Given the description of an element on the screen output the (x, y) to click on. 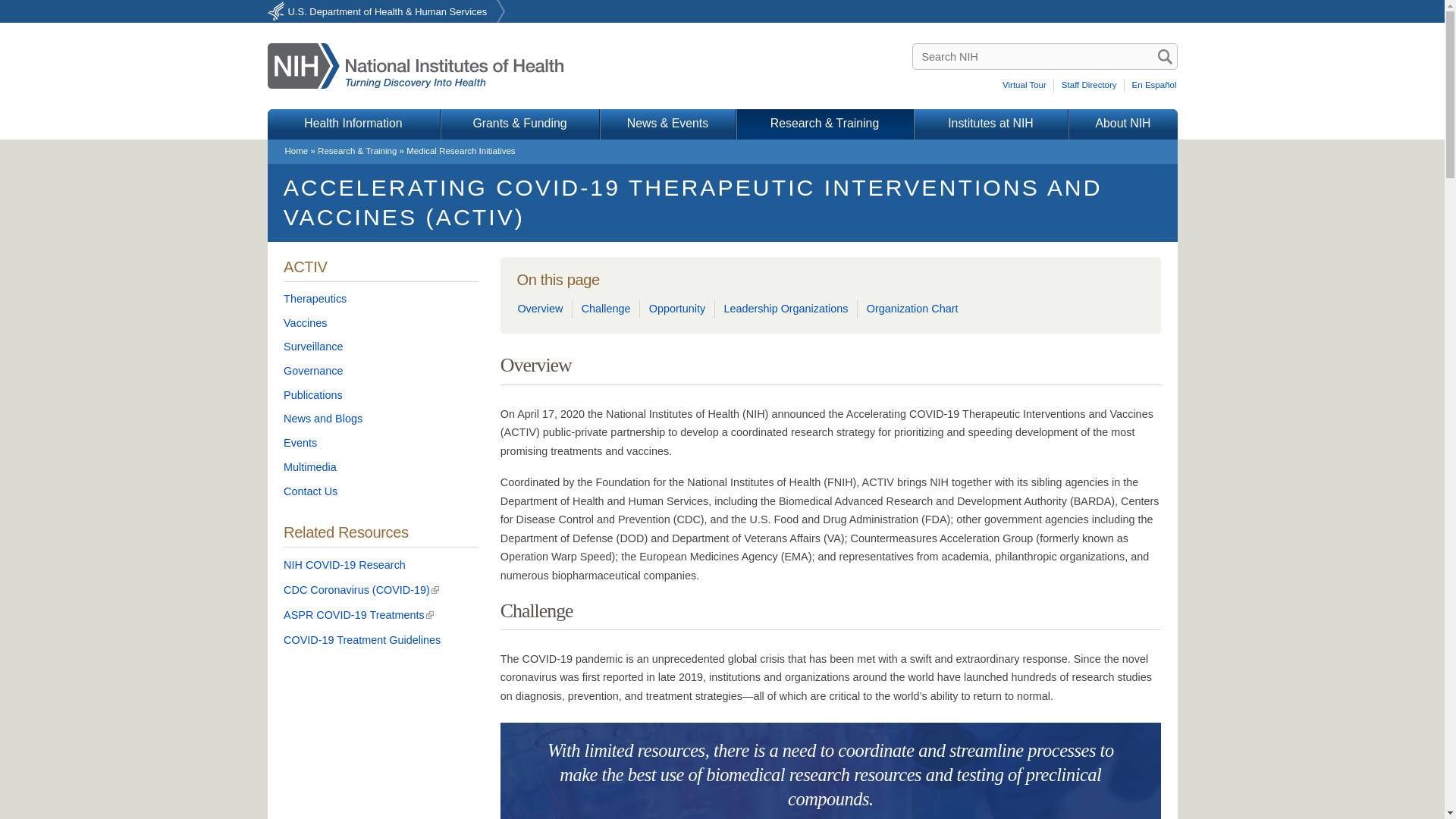
Search (1164, 56)
Search (1164, 56)
Virtual Tour (1026, 84)
Search (1164, 56)
Health Information (352, 123)
Staff Directory (1091, 84)
